Given the description of an element on the screen output the (x, y) to click on. 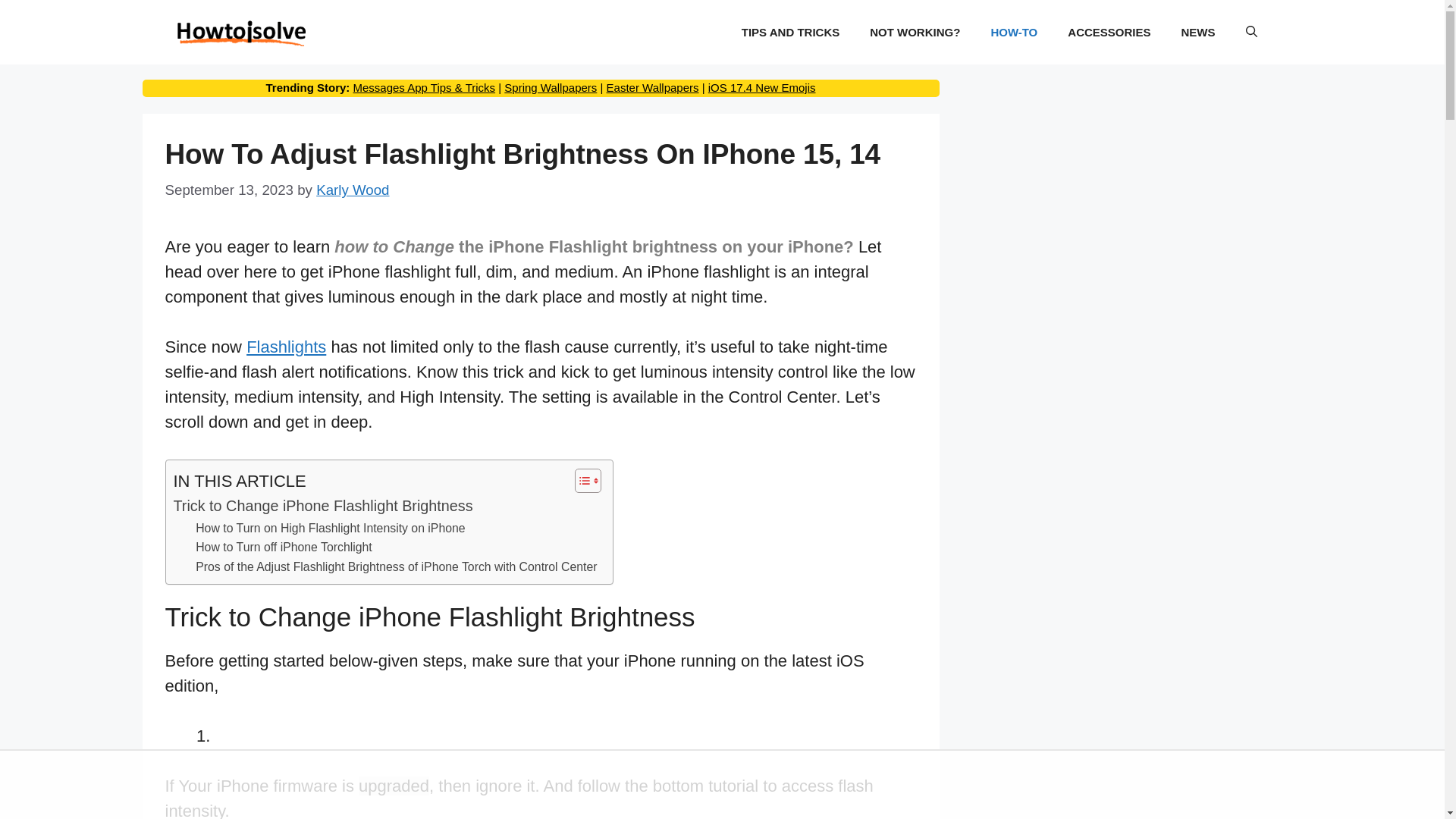
Trick to Change iPhone Flashlight Brightness (322, 506)
Easter Wallpapers (652, 87)
iOS 17.4 New Emojis (761, 87)
TIPS AND TRICKS (790, 31)
How to Turn on High Flashlight Intensity on iPhone (329, 527)
Flashlights (286, 346)
ACCESSORIES (1109, 31)
How to Turn off iPhone Torchlight (283, 546)
